Given the description of an element on the screen output the (x, y) to click on. 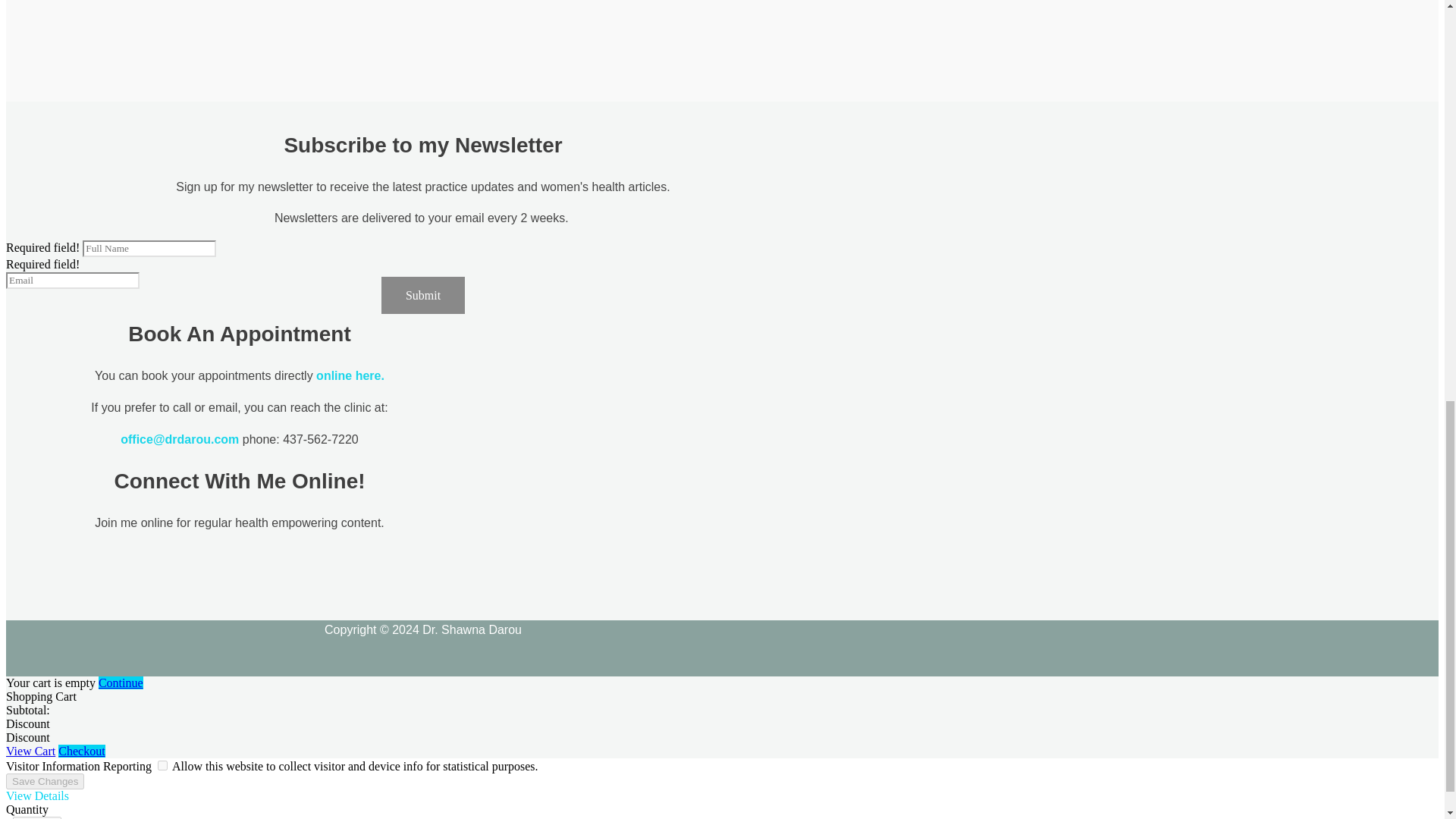
View Cart (30, 750)
online here. (349, 375)
View Details (36, 795)
on (162, 765)
Checkout (81, 750)
1 (37, 817)
Continue (120, 682)
Submit (422, 294)
Save Changes (44, 781)
